Given the description of an element on the screen output the (x, y) to click on. 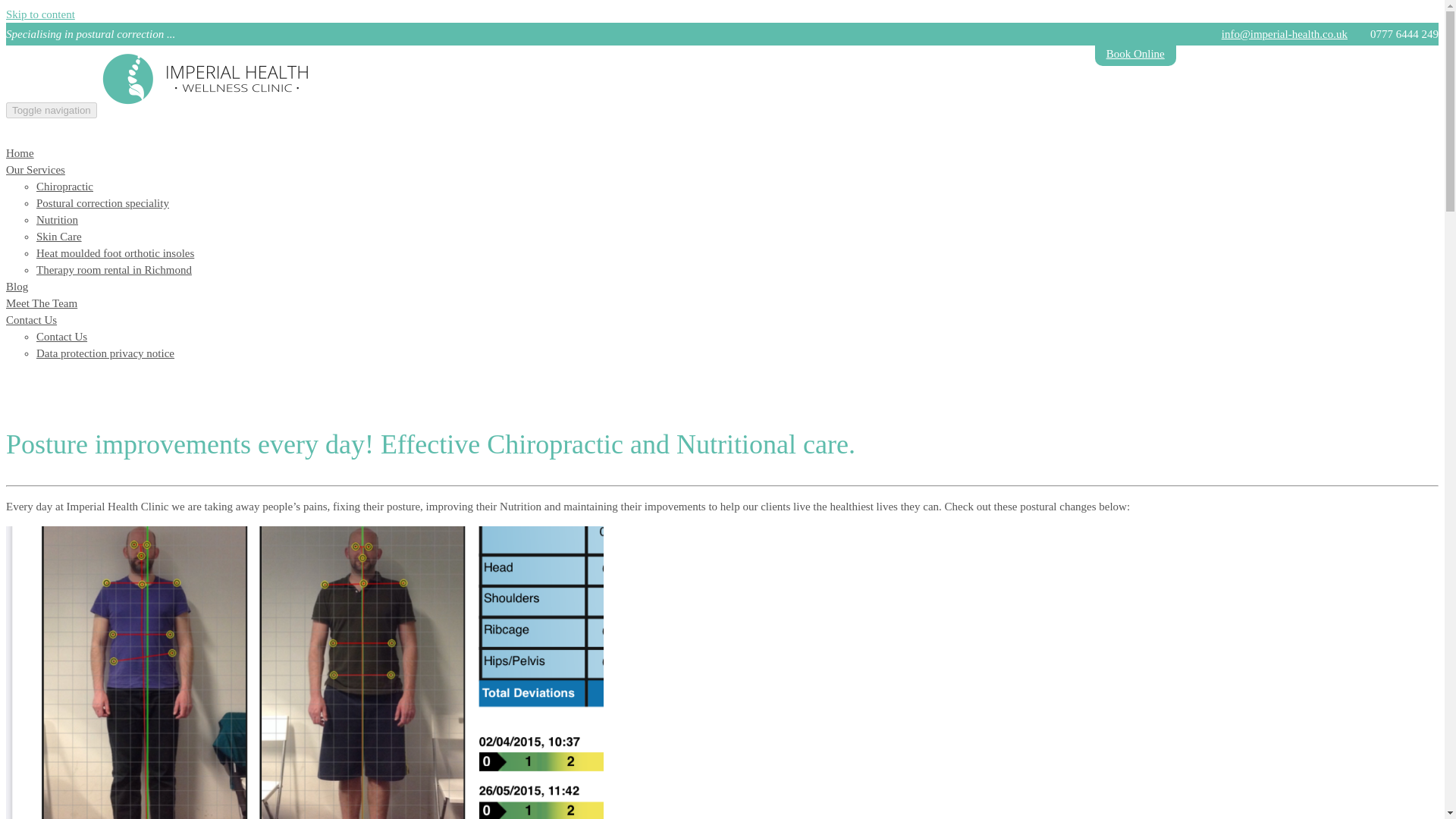
Chiropractic (64, 186)
Data protection privacy notice (105, 353)
Postural correction speciality (102, 203)
Contact Us (30, 319)
Skin Care (58, 236)
Heat moulded foot orthotic insoles (114, 253)
Meet The Team (41, 303)
Our Services (35, 169)
Heat moulded foot orthotic insoles (114, 253)
Therapy room rental in Richmond (114, 269)
Meet The Team (41, 303)
Blog (16, 286)
Home (19, 152)
Skip to content (40, 14)
Nutrition (57, 219)
